Given the description of an element on the screen output the (x, y) to click on. 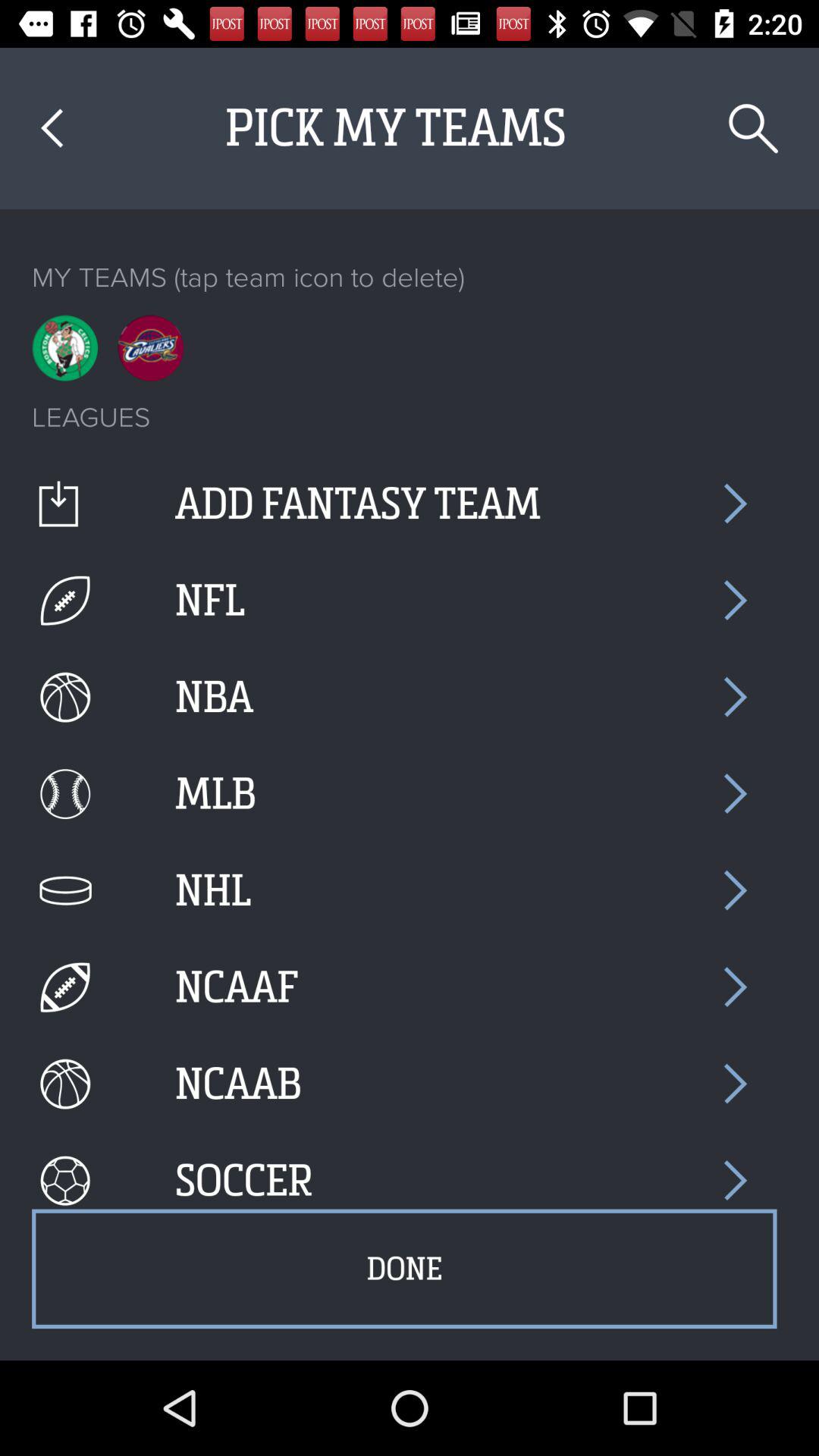
open item above my teams tap (753, 128)
